Given the description of an element on the screen output the (x, y) to click on. 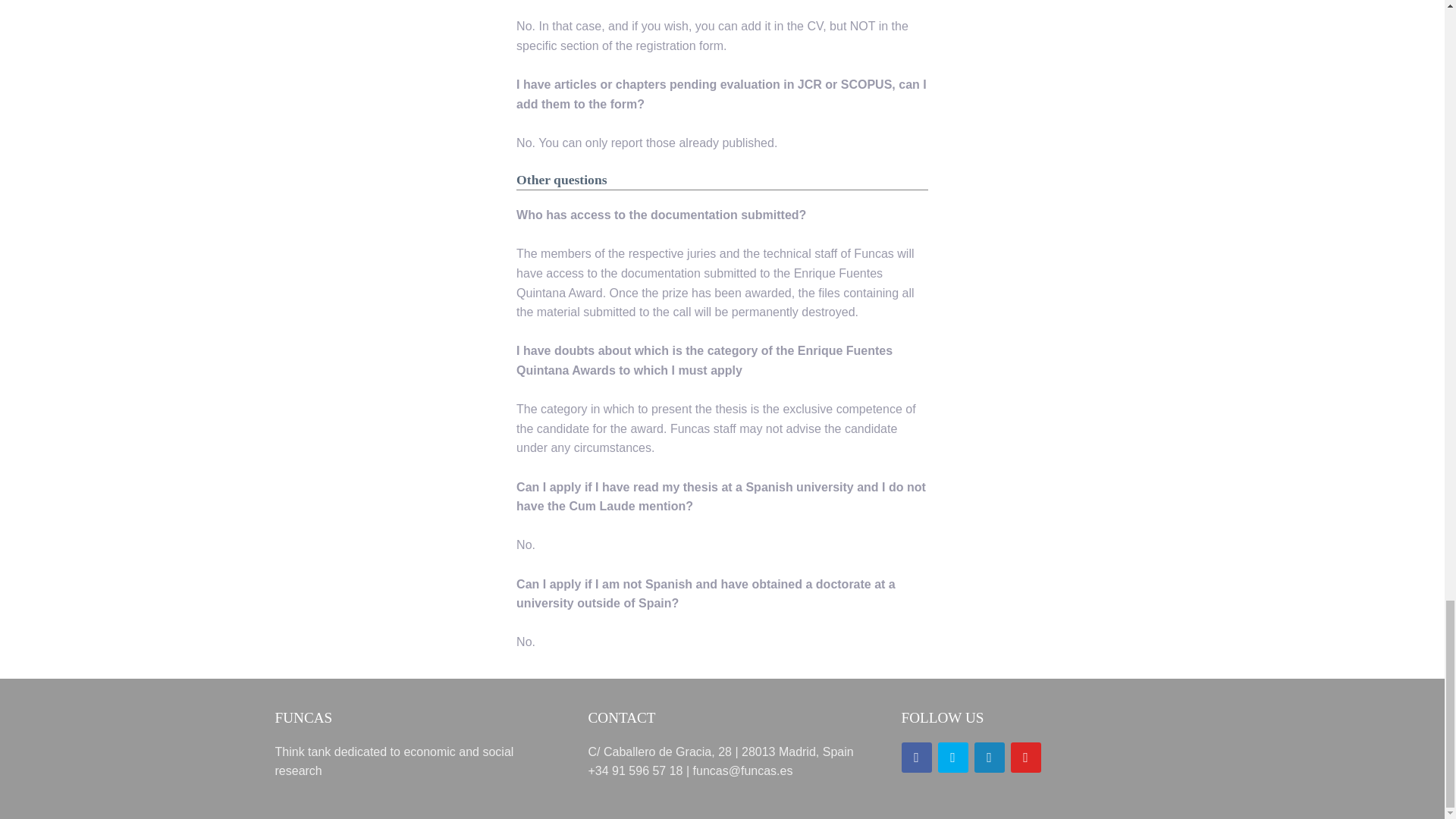
Facebook (916, 757)
Twitter (952, 757)
YouTube (1025, 757)
LinkedIn (989, 757)
